Given the description of an element on the screen output the (x, y) to click on. 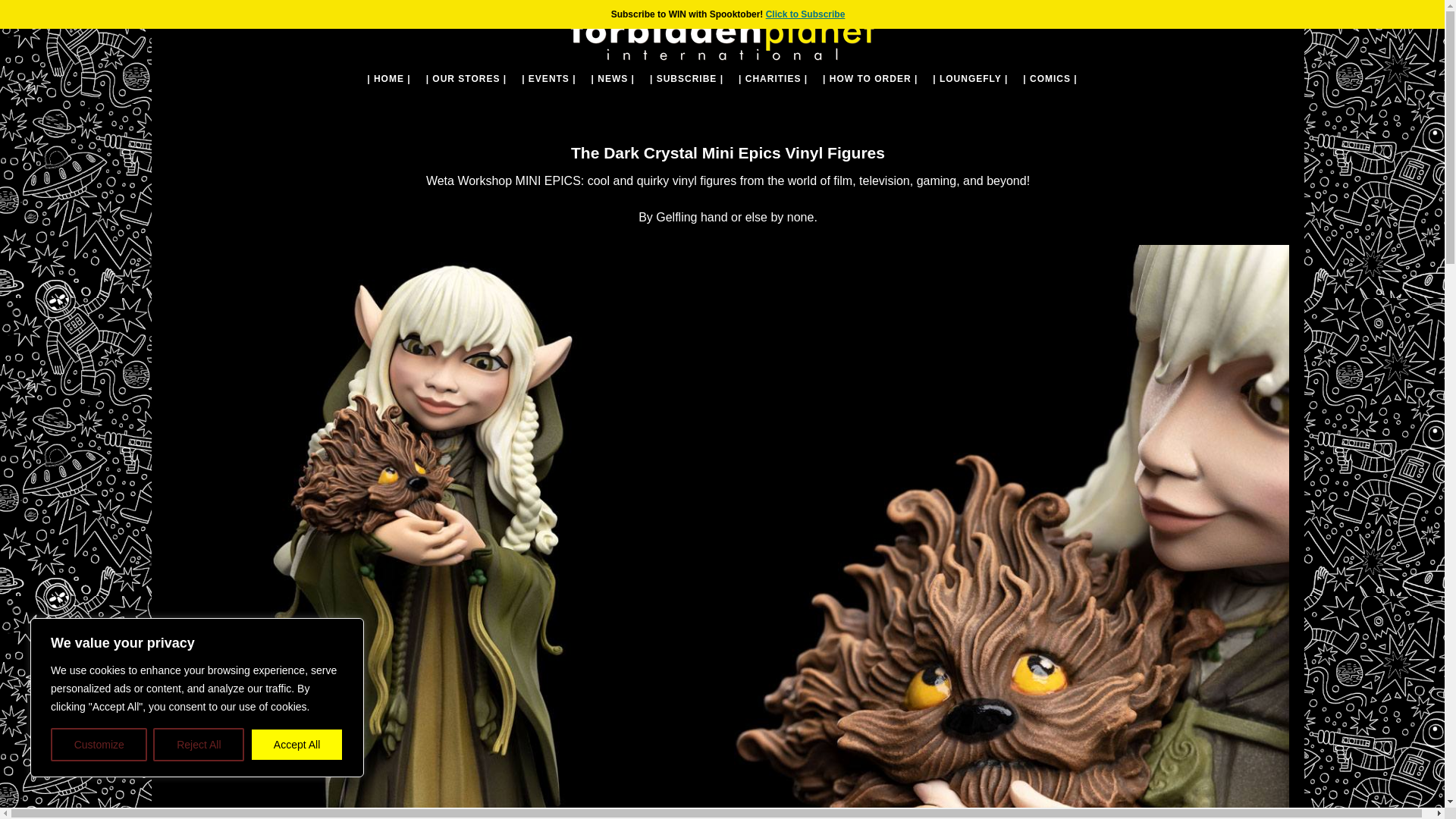
Customize (98, 744)
Click to Subscribe (805, 14)
Accept All (296, 744)
Reject All (198, 744)
